Given the description of an element on the screen output the (x, y) to click on. 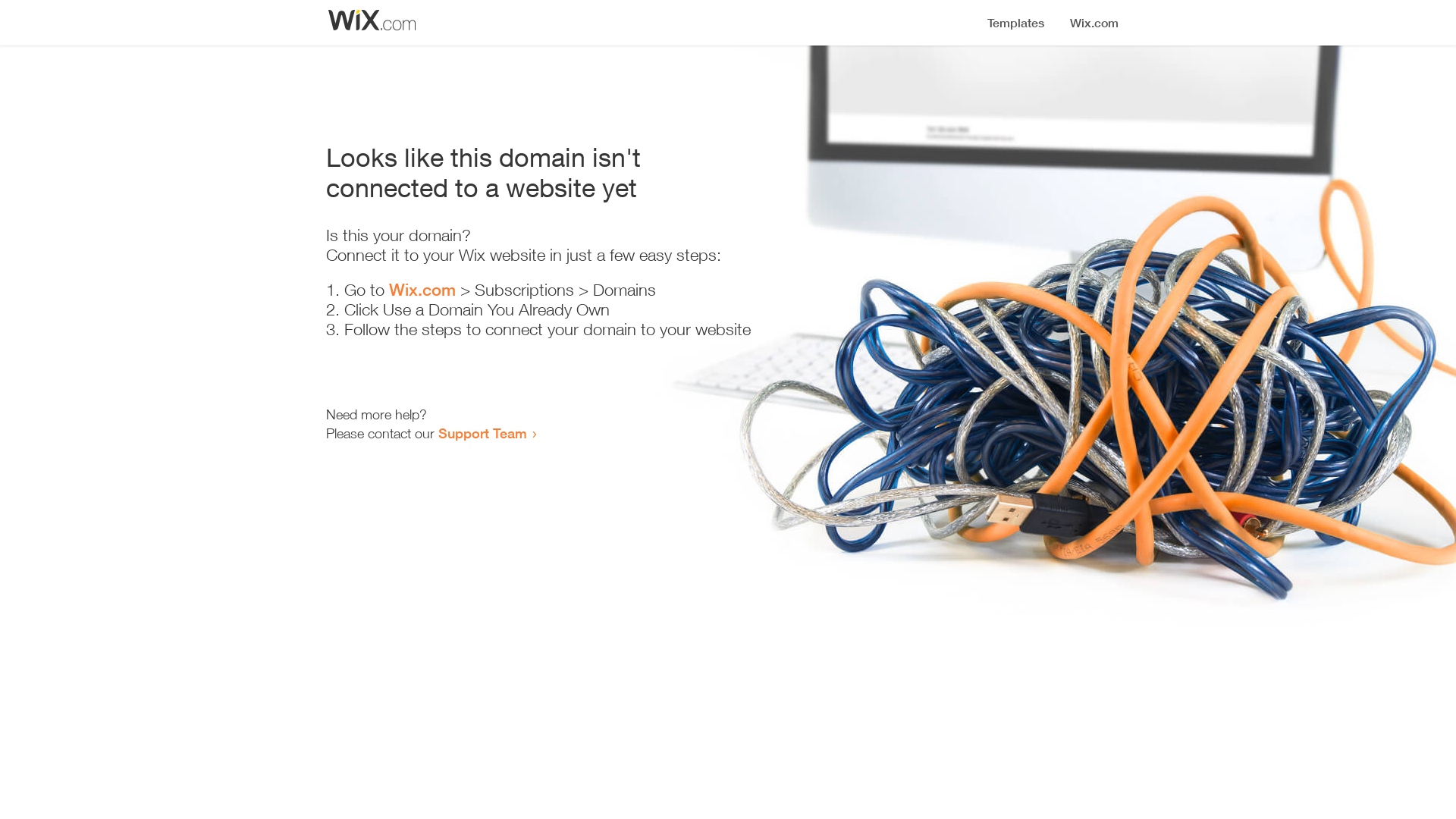
Support Team Element type: text (482, 432)
Wix.com Element type: text (422, 289)
